Given the description of an element on the screen output the (x, y) to click on. 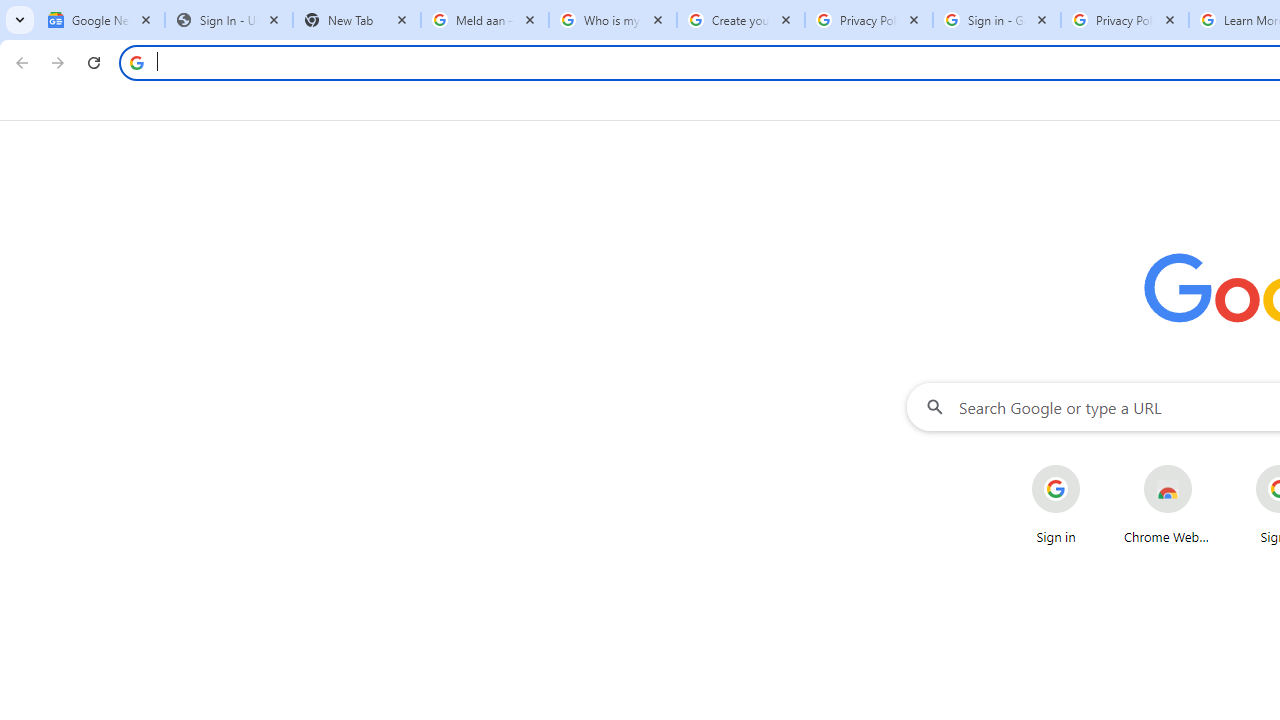
Create your Google Account (741, 20)
Chrome Web Store (1167, 504)
Sign In - USA TODAY (229, 20)
New Tab (357, 20)
Google News (101, 20)
More actions for Chrome Web Store shortcut (1208, 466)
Who is my administrator? - Google Account Help (613, 20)
More actions for Sign in shortcut (1095, 466)
